Given the description of an element on the screen output the (x, y) to click on. 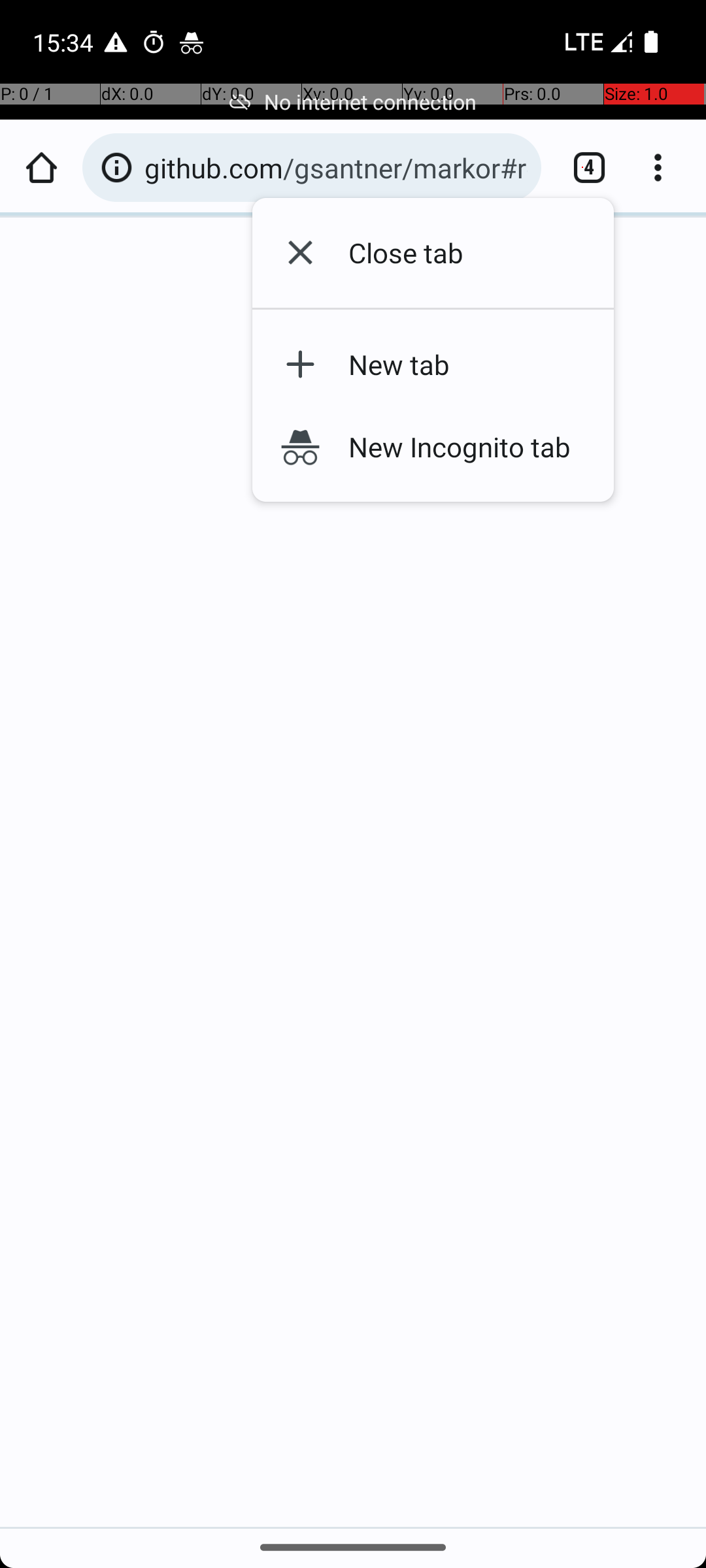
New tab Element type: android.widget.TextView (453, 363)
New Incognito tab Element type: android.widget.TextView (453, 446)
